Given the description of an element on the screen output the (x, y) to click on. 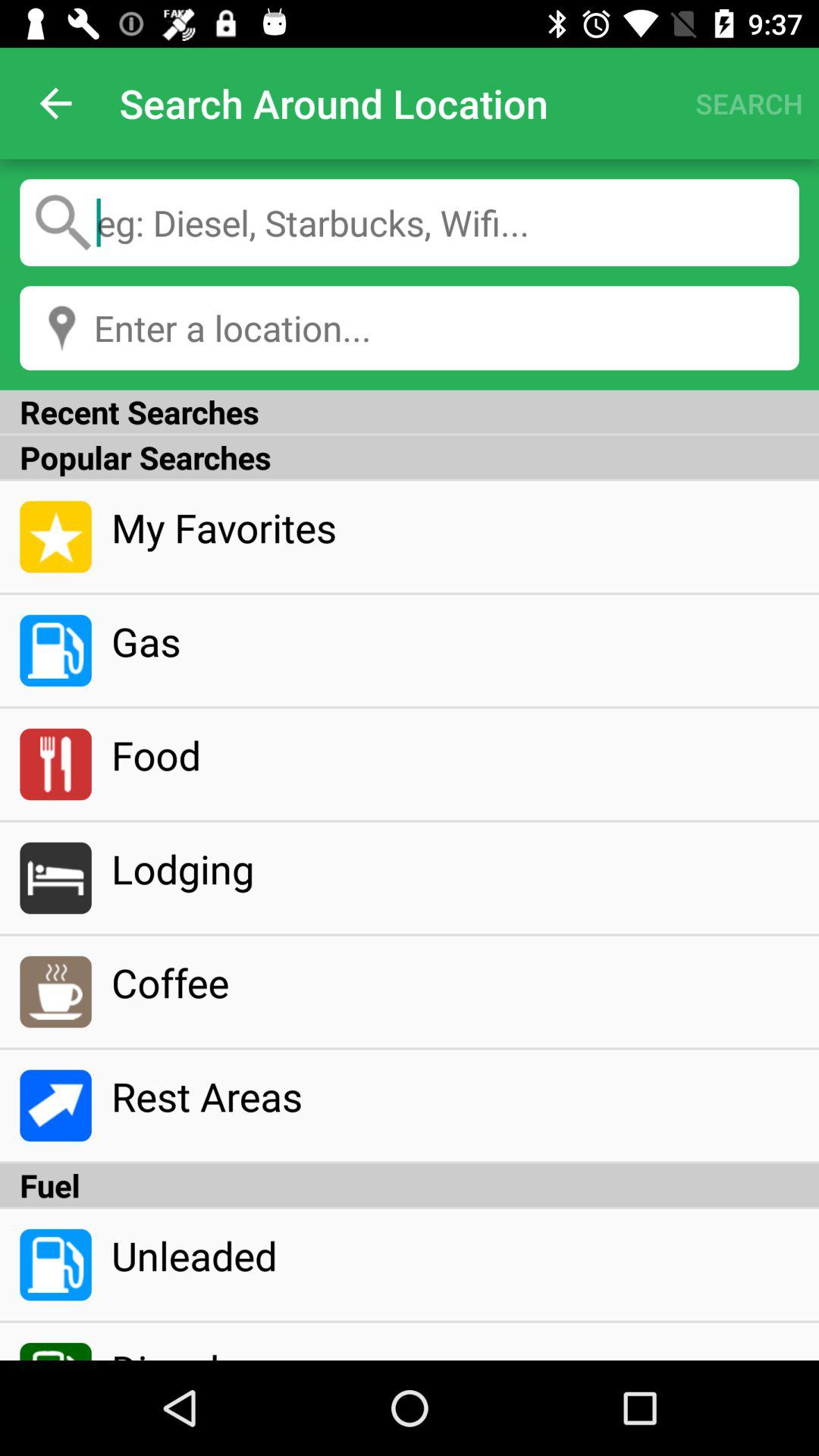
jump to the popular searches icon (409, 456)
